Given the description of an element on the screen output the (x, y) to click on. 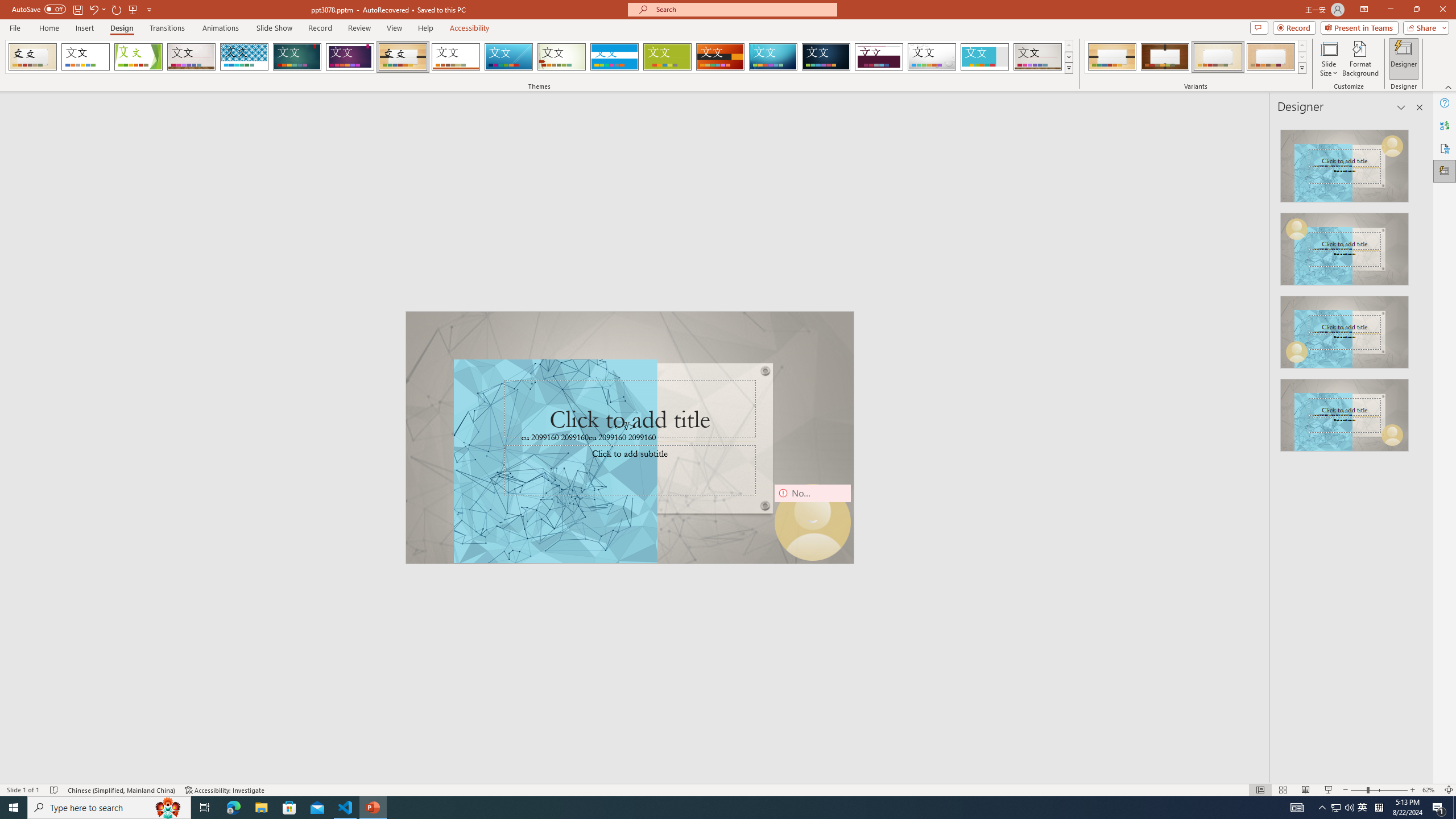
Title actions (1398, 150)
Run and Debug (Ctrl+Shift+D) (76, 353)
Terminal actions (1050, 533)
Open Changes (1374, 182)
Output (Ctrl+Shift+U) (395, 533)
Run Python File (1334, 182)
Notifications (1428, 766)
Timeline Section (188, 635)
Python (1387, 766)
Toggle Primary Side Bar (Ctrl+B) (1358, 150)
remote (69, 766)
wangyian_dsw - DSW (23, 183)
